Given the description of an element on the screen output the (x, y) to click on. 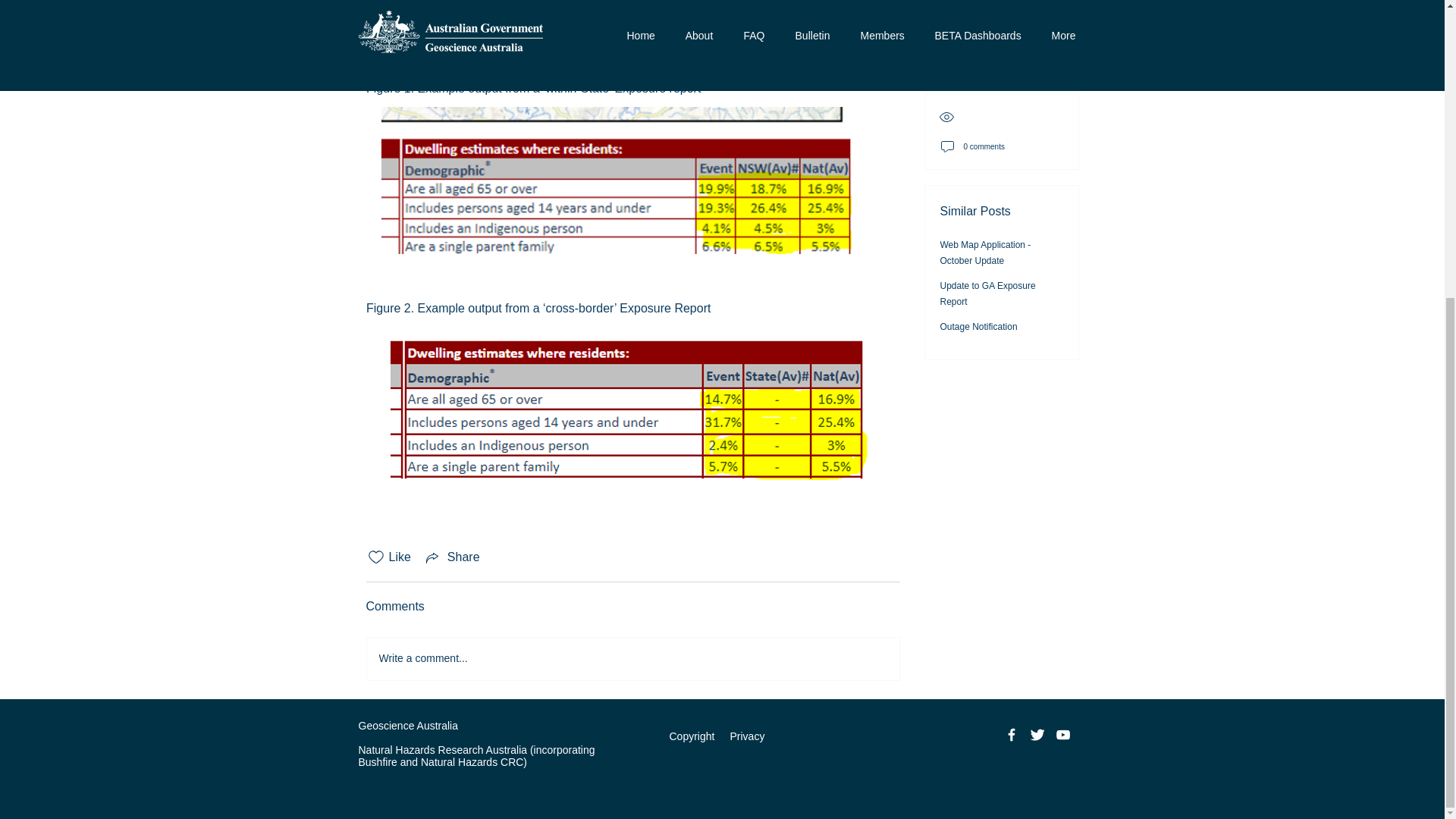
Copyright  (692, 735)
Share (451, 556)
Privacy (746, 735)
Outage Notification (978, 11)
Geoscience Australia (408, 725)
Write a comment... (632, 658)
